Given the description of an element on the screen output the (x, y) to click on. 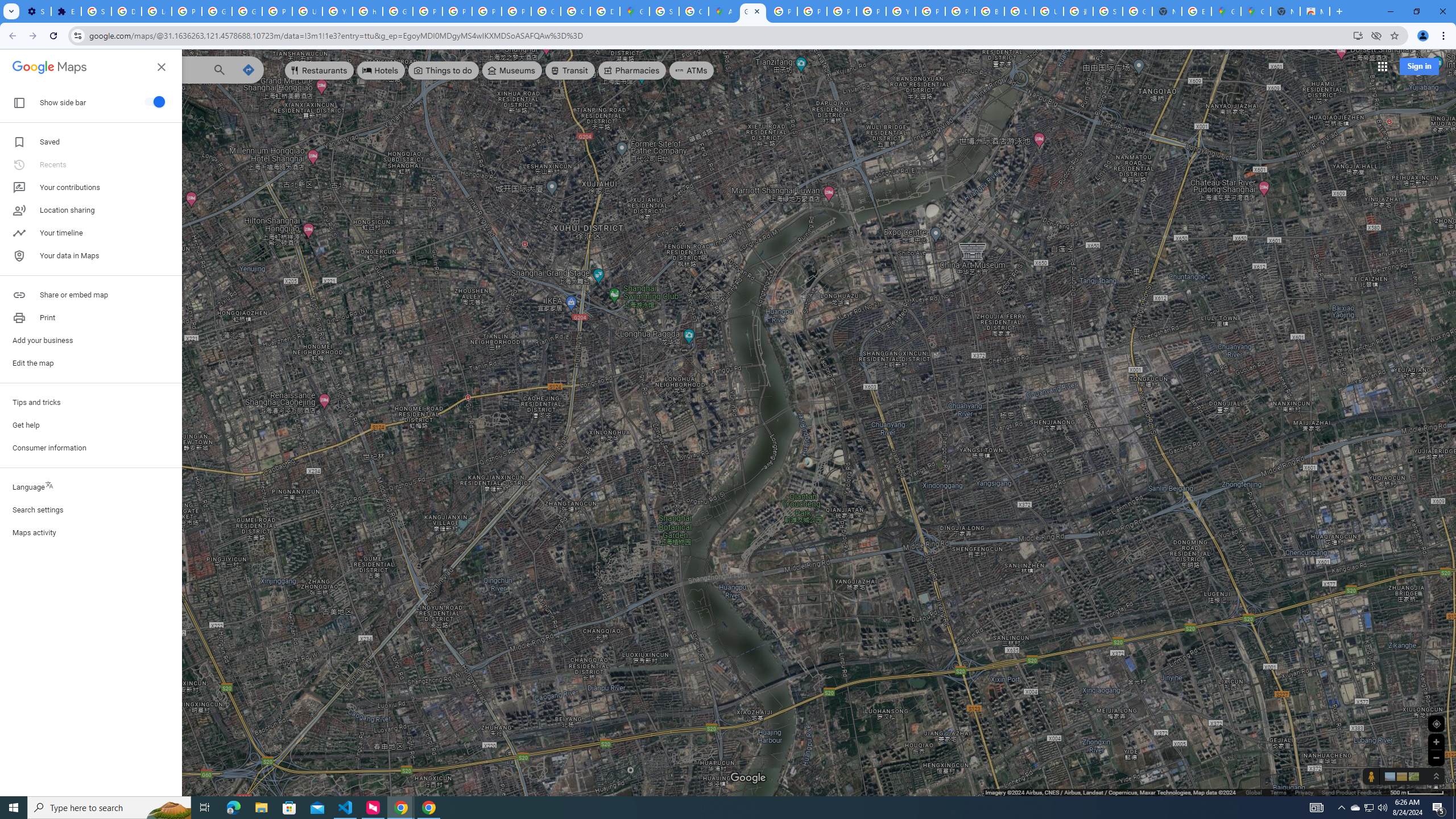
Explore new street-level details - Google Maps Help (1196, 11)
500 m (1417, 792)
Transit (569, 70)
Search Google Maps (133, 69)
Zoom out (1436, 757)
Privacy Help Center - Policies Help (811, 11)
https://scholar.google.com/ (367, 11)
Your timeline (90, 232)
